Given the description of an element on the screen output the (x, y) to click on. 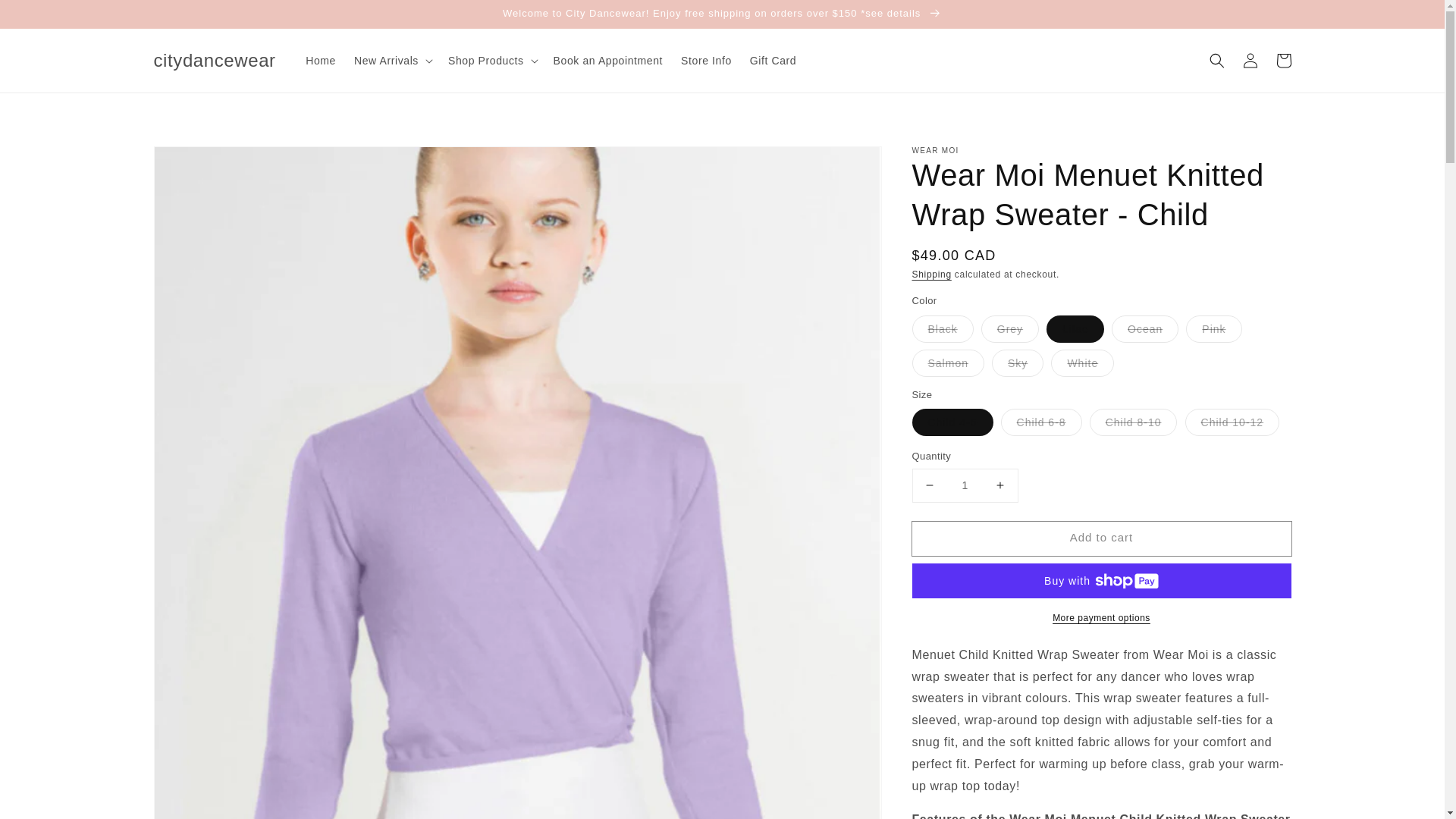
Skip to content (45, 16)
